Given the description of an element on the screen output the (x, y) to click on. 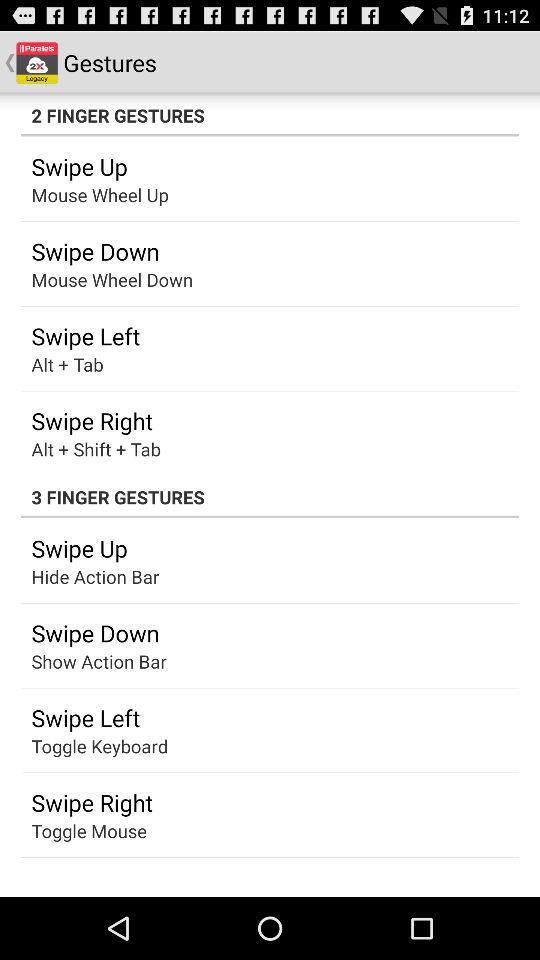
press the show mouse icon (84, 576)
